Given the description of an element on the screen output the (x, y) to click on. 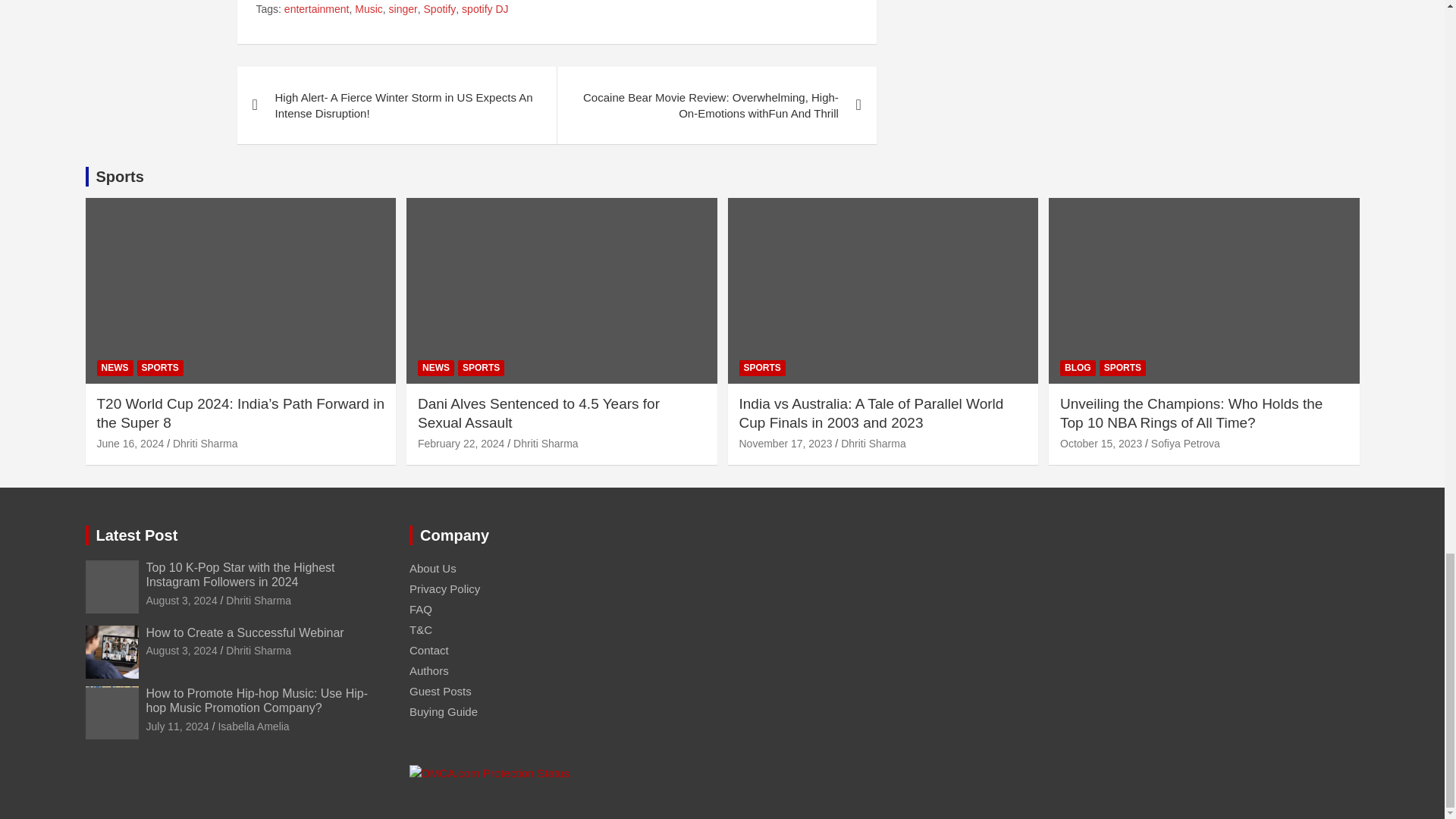
How to Create a Successful Webinar (180, 650)
Dani Alves Sentenced to 4.5 Years for Sexual Assault (460, 443)
DMCA.com Protection Status (489, 772)
